Given the description of an element on the screen output the (x, y) to click on. 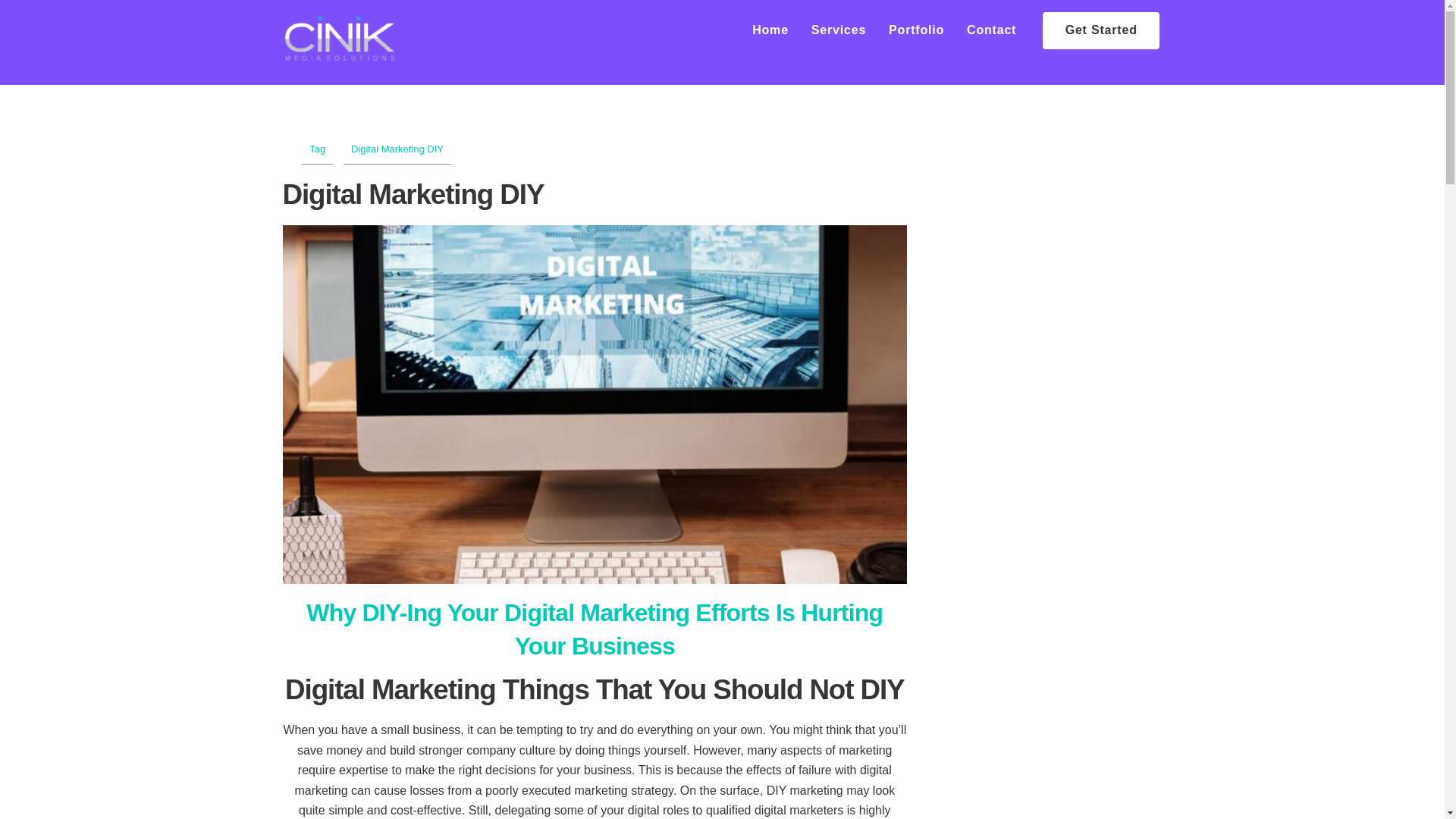
Portfolio (917, 30)
Home (770, 30)
Tag (317, 149)
Tag (317, 149)
Services (837, 30)
Digital Marketing DIY (397, 149)
Cinik Media Solutions (339, 53)
Contact (991, 30)
Digital Marketing DIY (397, 149)
